Given the description of an element on the screen output the (x, y) to click on. 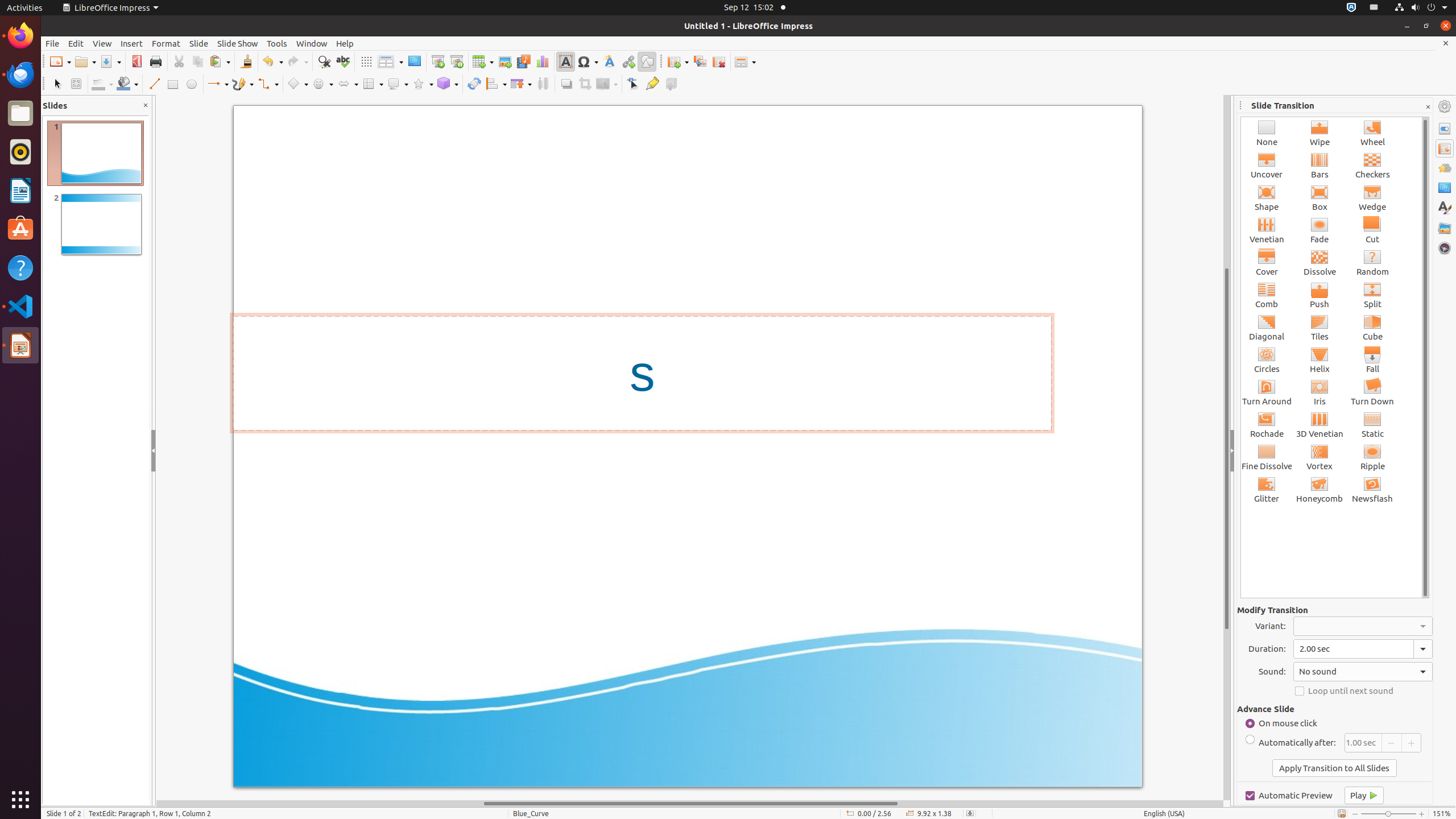
Edit Element type: menu (75, 43)
Delete Slide Element type: push-button (718, 61)
Apply Transition to All Slides Element type: push-button (1334, 767)
Grid Element type: toggle-button (365, 61)
File Element type: menu (51, 43)
